Given the description of an element on the screen output the (x, y) to click on. 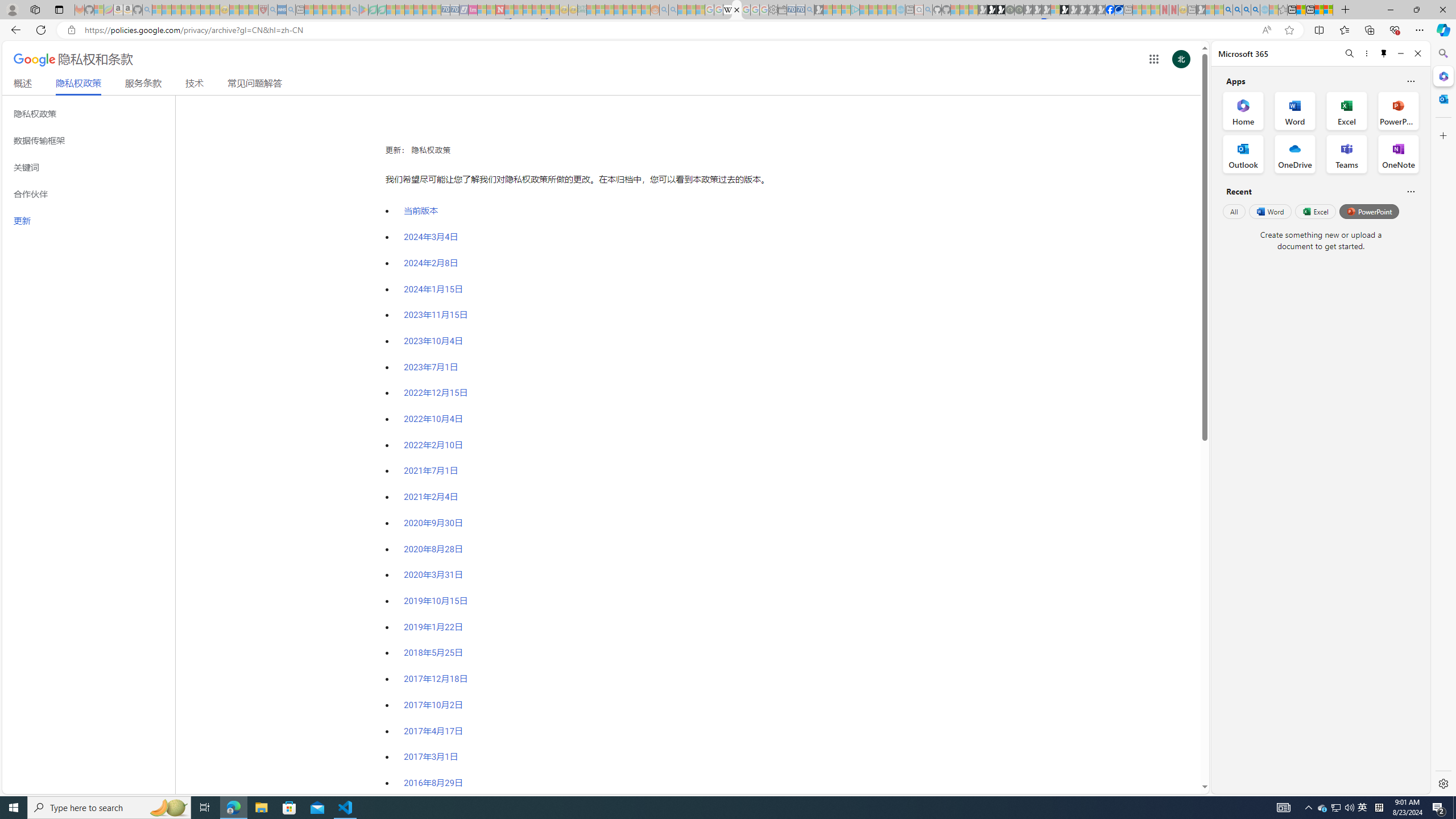
utah sues federal government - Search - Sleeping (290, 9)
All (1233, 210)
